Given the description of an element on the screen output the (x, y) to click on. 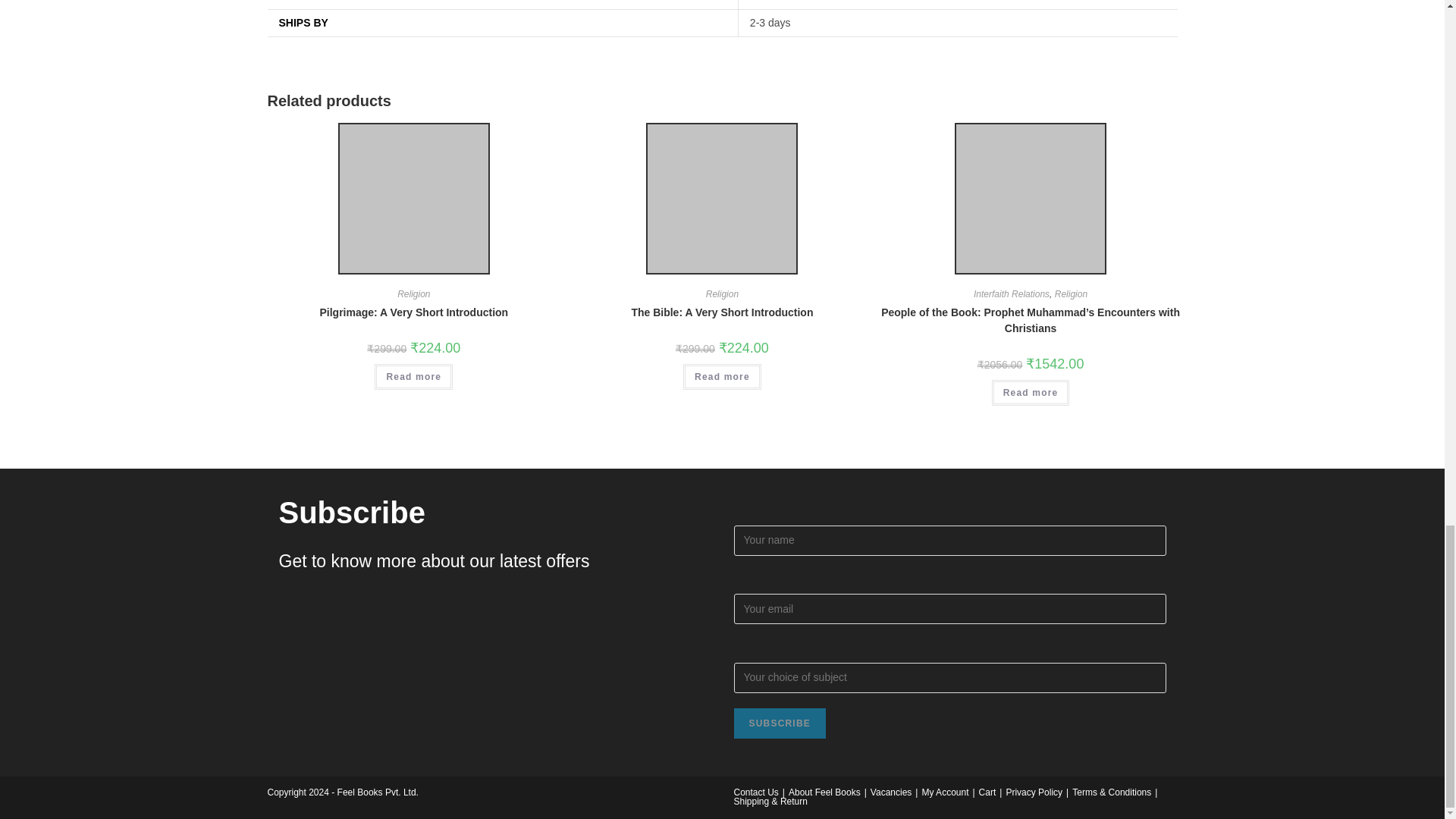
Read more (413, 376)
Pilgrimage: A Very Short Introduction (413, 312)
Religion (413, 294)
Subscribe (779, 723)
